Given the description of an element on the screen output the (x, y) to click on. 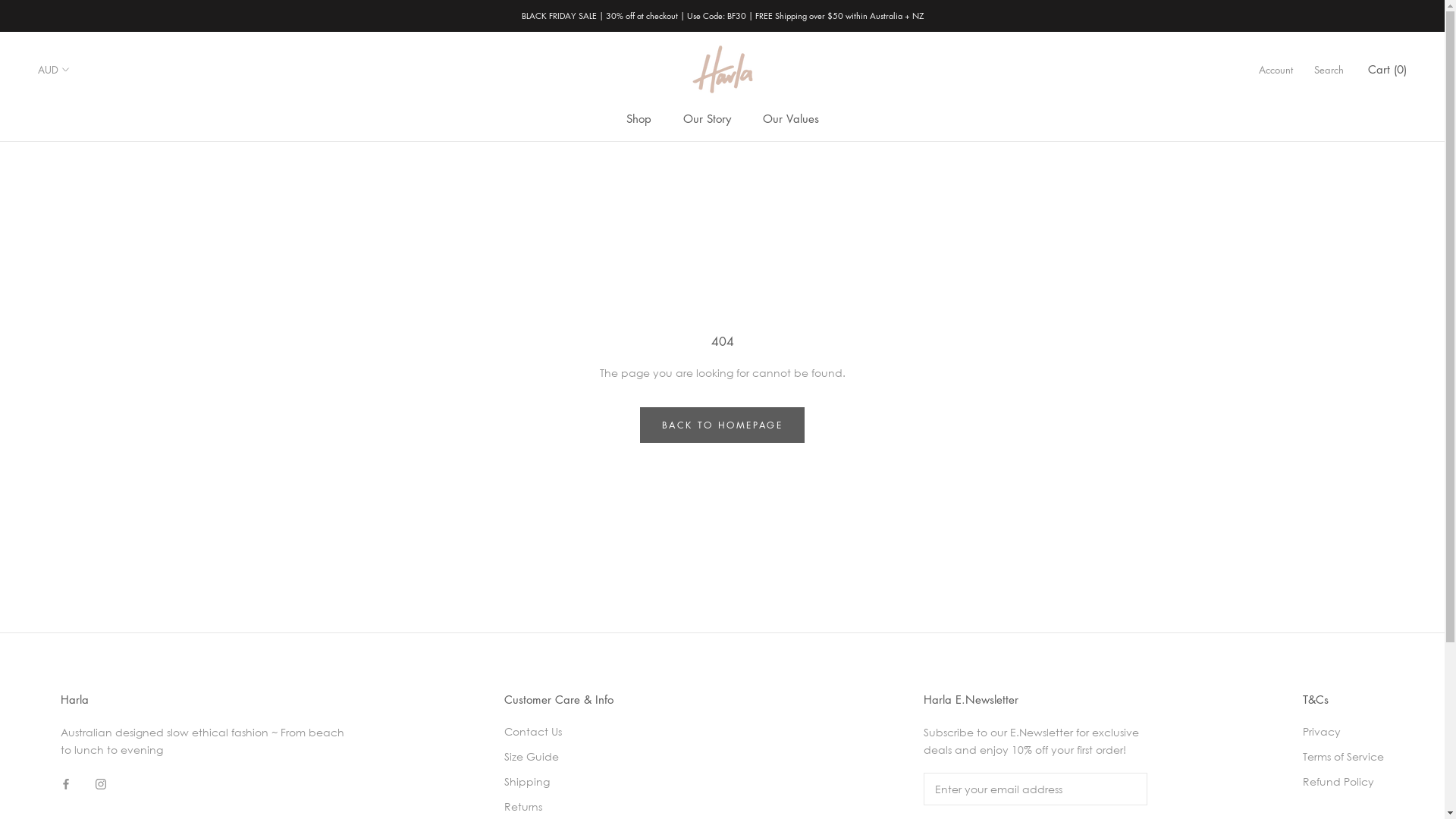
Returns Element type: text (558, 806)
Search Element type: text (1328, 69)
Contact Us Element type: text (558, 731)
Cart (0) Element type: text (1387, 68)
BACK TO HOMEPAGE Element type: text (722, 424)
Our Story
Our Story Element type: text (706, 117)
Our Values Element type: text (790, 117)
Terms of Service Element type: text (1342, 756)
Account Element type: text (1275, 69)
Privacy Element type: text (1342, 731)
Shop Element type: text (638, 117)
Refund Policy Element type: text (1342, 781)
Size Guide Element type: text (558, 756)
Shipping Element type: text (558, 781)
